Given the description of an element on the screen output the (x, y) to click on. 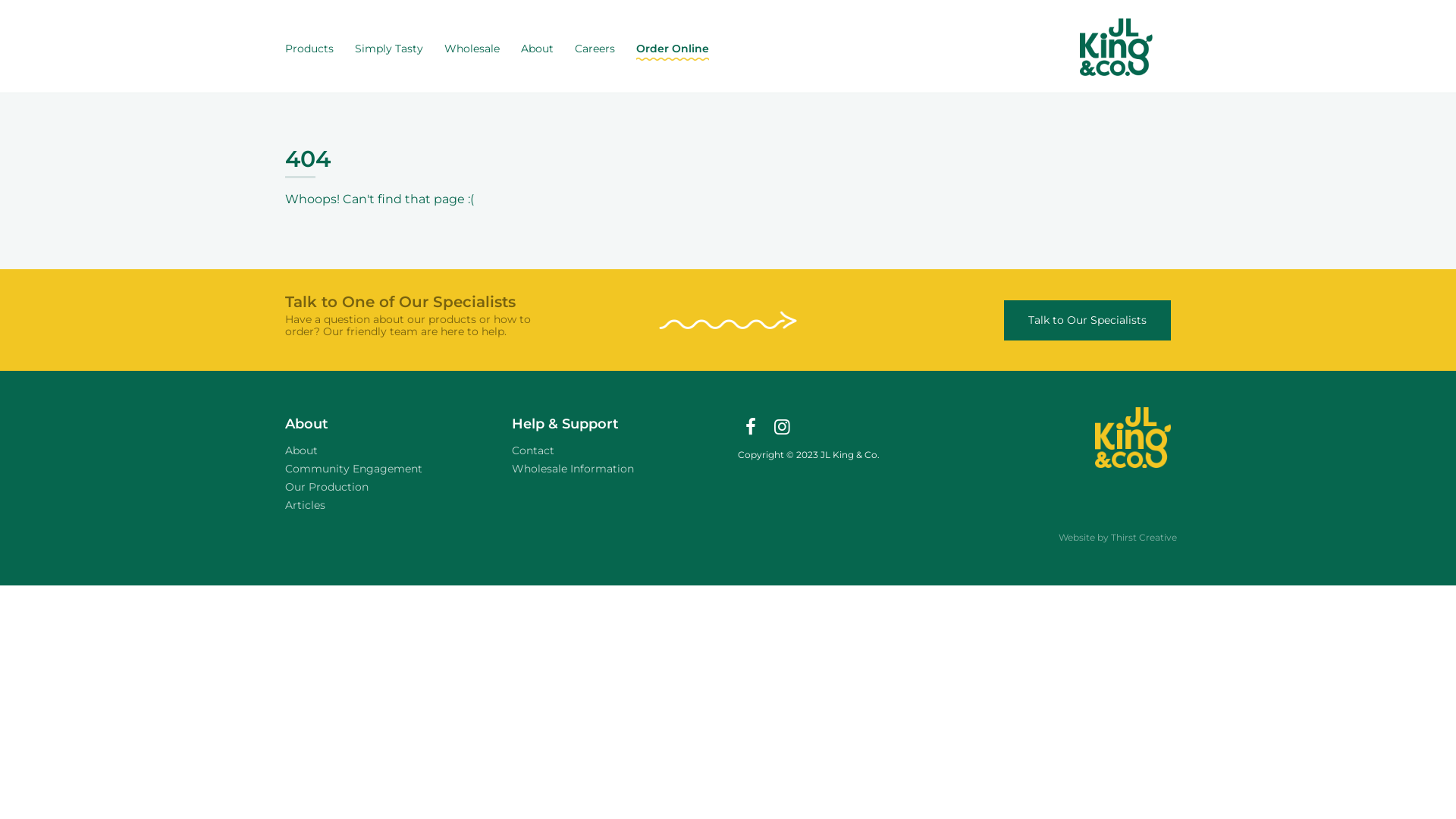
Products Element type: text (309, 48)
Community Engagement Element type: text (353, 468)
Website by Thirst Creative Element type: text (1117, 536)
Contact Element type: text (532, 450)
Our Production Element type: text (326, 486)
Simply Tasty Element type: text (388, 48)
About Element type: text (301, 450)
Articles Element type: text (305, 504)
JL King - Home Element type: hover (1115, 48)
Wholesale Information Element type: text (572, 468)
About Element type: text (536, 48)
Careers Element type: text (594, 48)
Talk to Our Specialists Element type: text (1087, 320)
Order Online Element type: text (672, 48)
Wholesale Element type: text (471, 48)
